Given the description of an element on the screen output the (x, y) to click on. 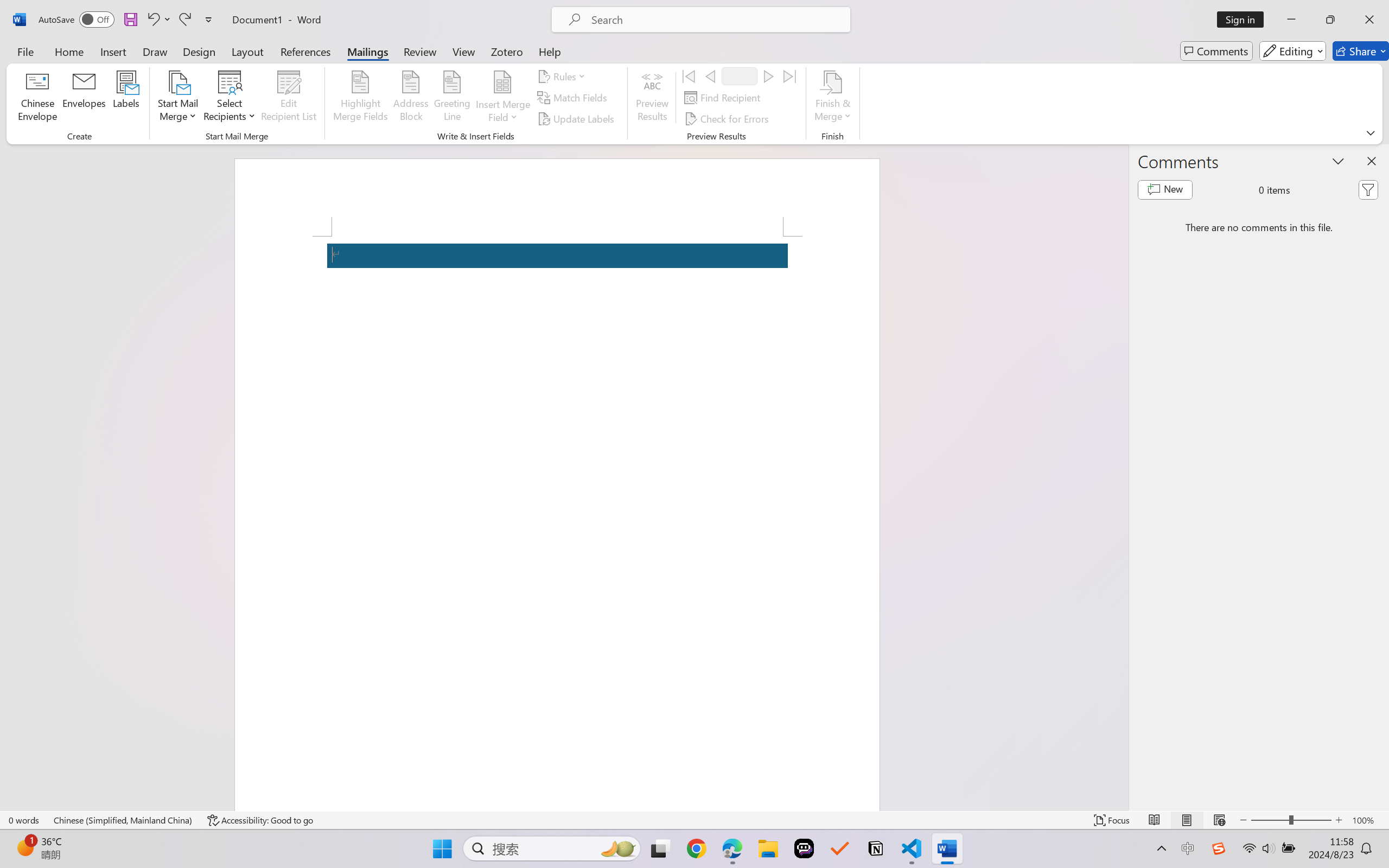
Finish & Merge (832, 97)
Record (739, 76)
Rules (563, 75)
